Given the description of an element on the screen output the (x, y) to click on. 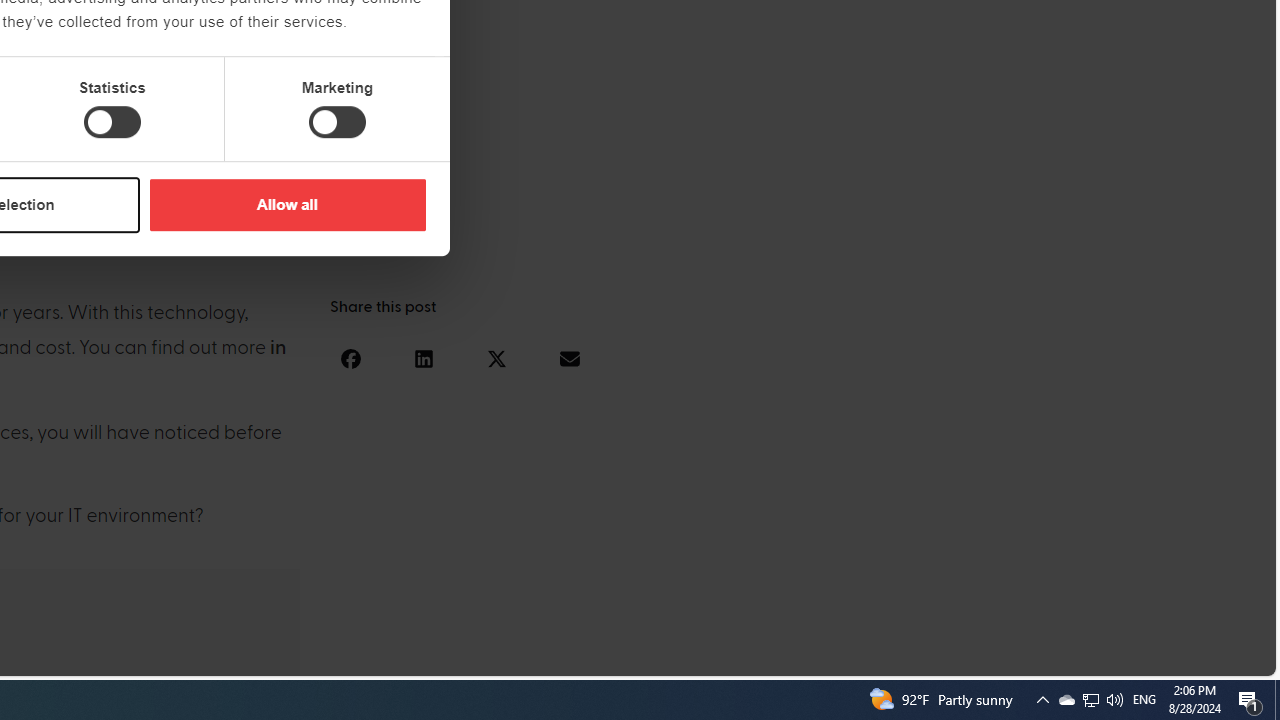
Marketing (337, 121)
Language switcher : Norwegian (985, 657)
Language switcher : Romanian (1126, 657)
Language switcher : Italian (945, 657)
Share on linkedin (423, 358)
Language switcher : Dutch (965, 657)
Language switcher : Swedish (1105, 657)
Allow all (287, 204)
Statistics (111, 121)
Share on facebook (350, 358)
Language switcher : Czech (1205, 657)
Language switcher : French (906, 657)
Language switcher : Greek (1145, 657)
Language switcher : Spanish (925, 657)
Language switcher : Klingon (1226, 657)
